Given the description of an element on the screen output the (x, y) to click on. 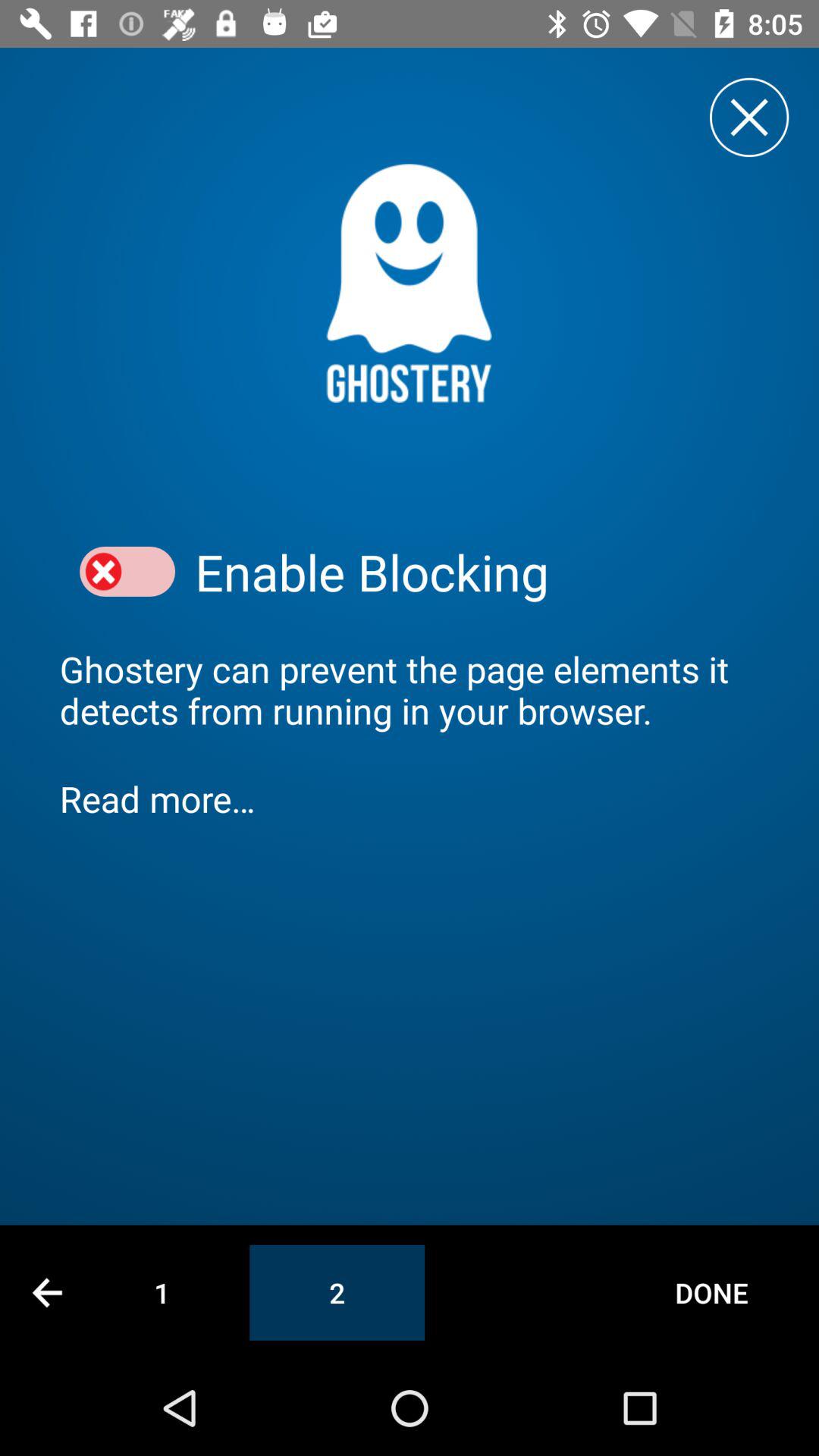
jump until 1 (161, 1292)
